Given the description of an element on the screen output the (x, y) to click on. 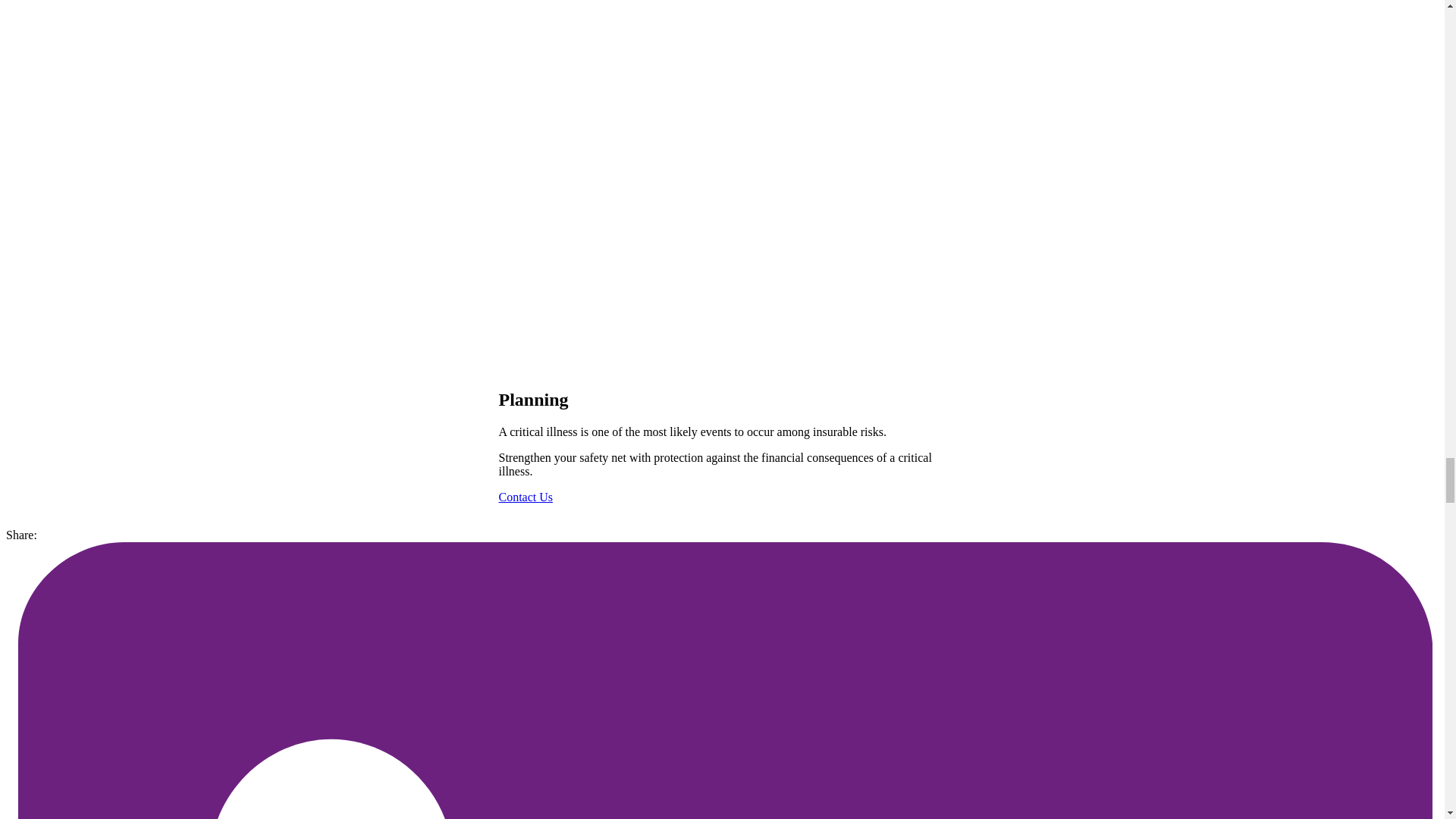
Contact Us (526, 496)
